Given the description of an element on the screen output the (x, y) to click on. 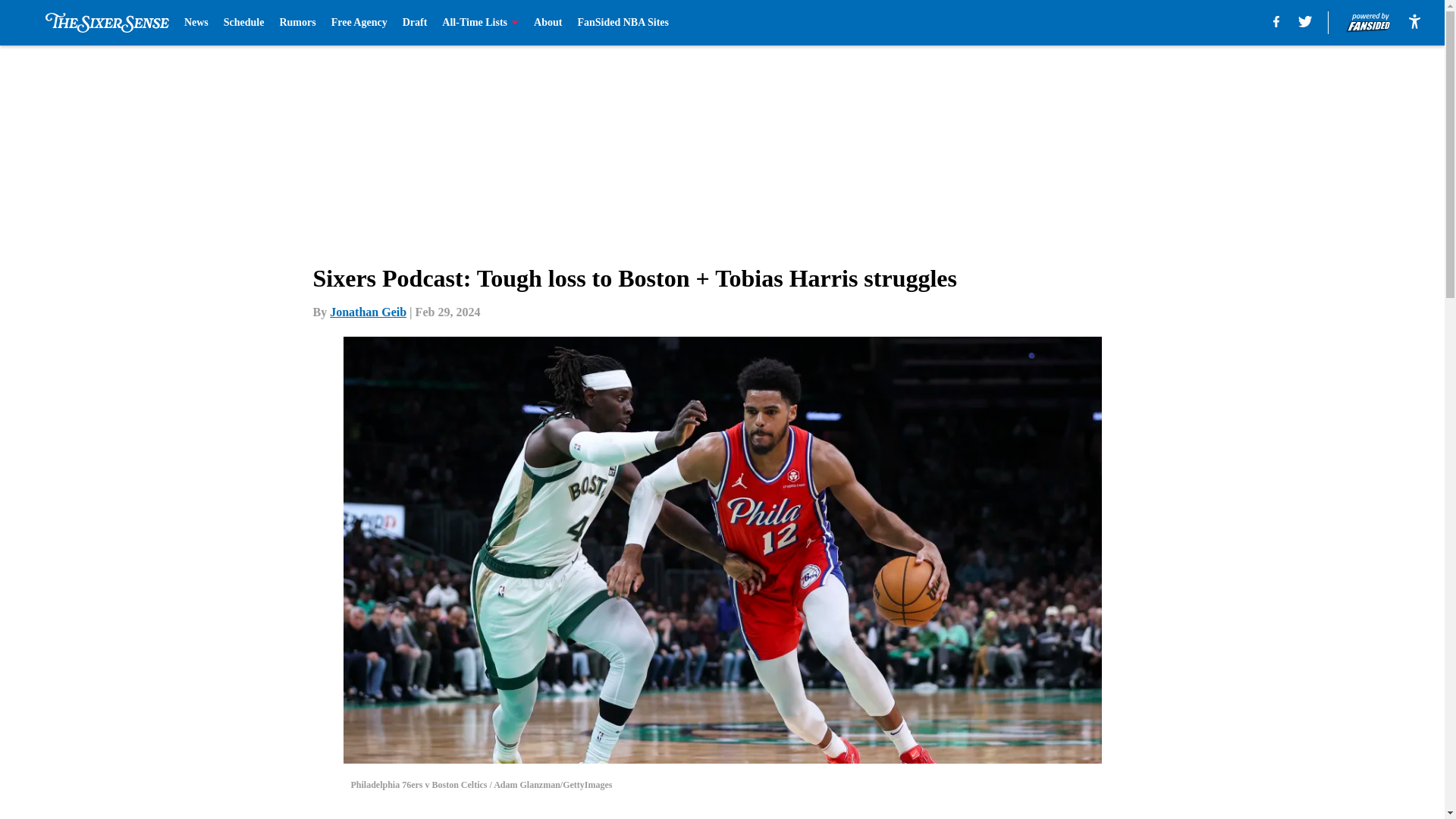
About (548, 22)
Free Agency (359, 22)
Schedule (244, 22)
News (196, 22)
Jonathan Geib (368, 311)
FanSided NBA Sites (622, 22)
Draft (415, 22)
Rumors (297, 22)
All-Time Lists (480, 22)
